Given the description of an element on the screen output the (x, y) to click on. 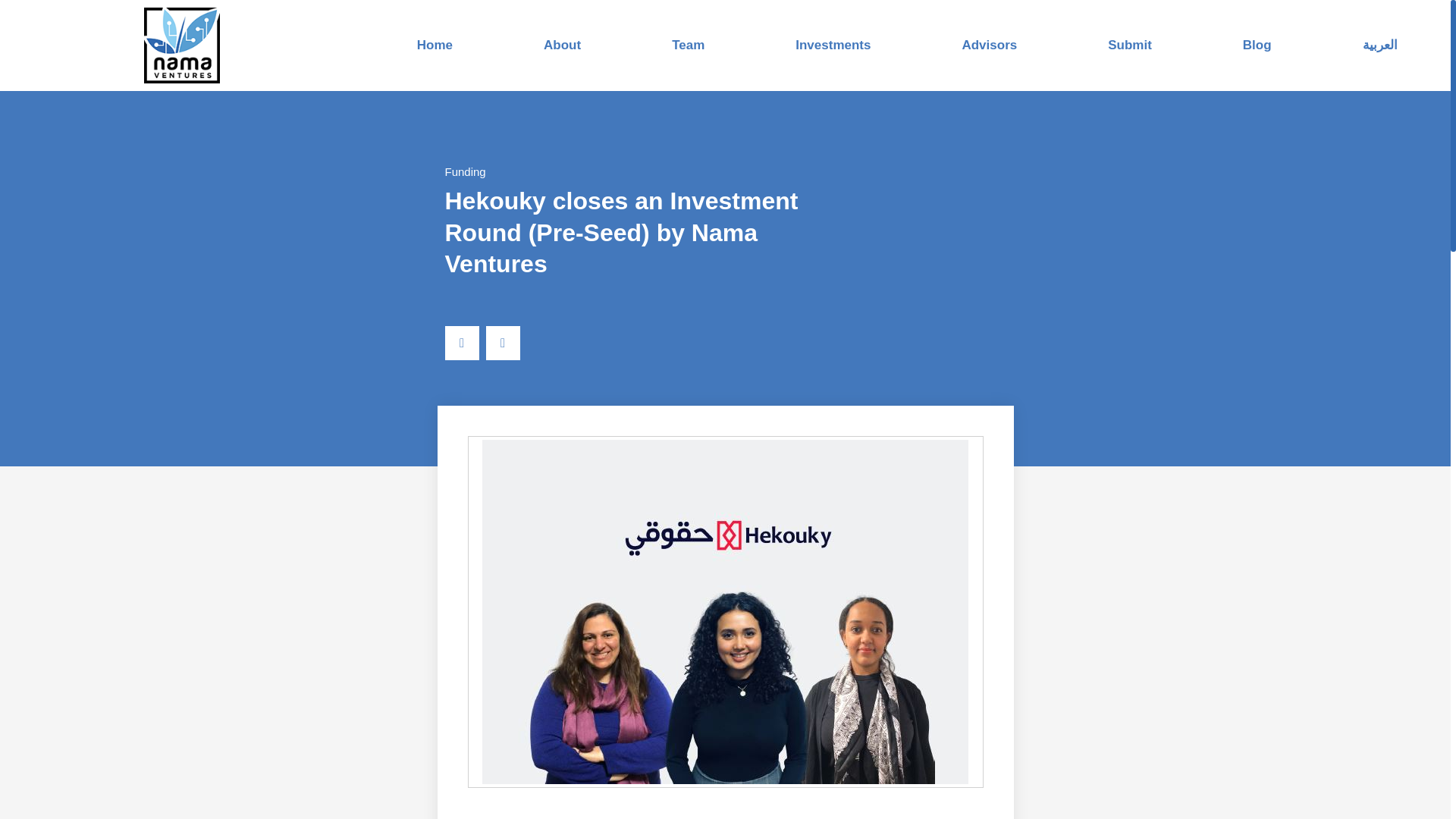
About (561, 45)
Submit (1129, 45)
Investments (832, 45)
Home (434, 45)
Advisors (988, 45)
Funding (464, 171)
Team (687, 45)
Blog (1256, 45)
